Given the description of an element on the screen output the (x, y) to click on. 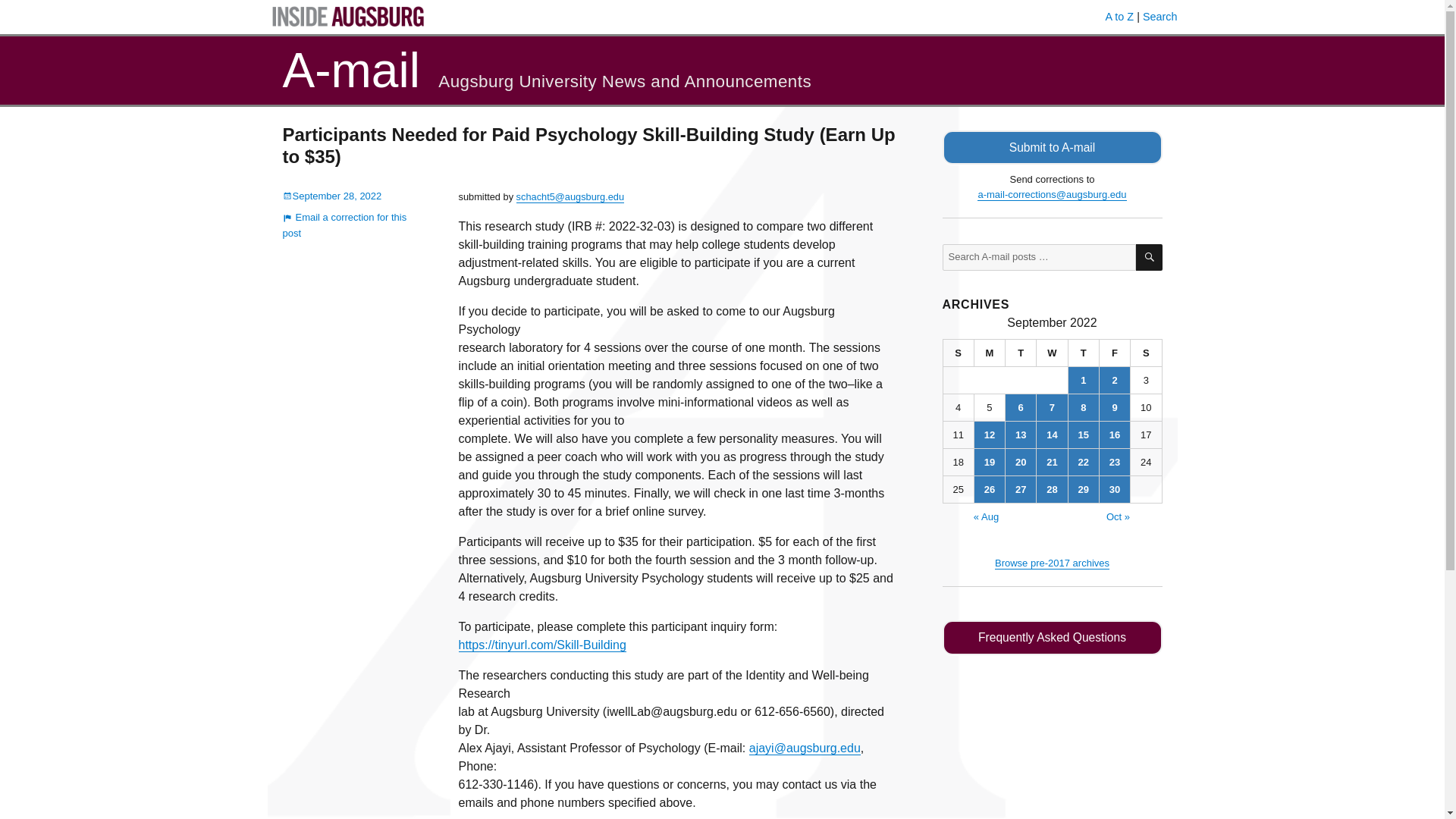
26 (989, 488)
2 (1114, 379)
Frequently Asked Questions (1051, 637)
30 (1114, 488)
September 28, 2022 (331, 195)
8 (1083, 406)
14 (1051, 434)
Browse pre-2017 archives (1051, 562)
1 (1083, 379)
SEARCH (1148, 257)
7 (1051, 406)
23 (1114, 461)
A to Z (1119, 16)
Thursday (1083, 352)
22 (1083, 461)
